Given the description of an element on the screen output the (x, y) to click on. 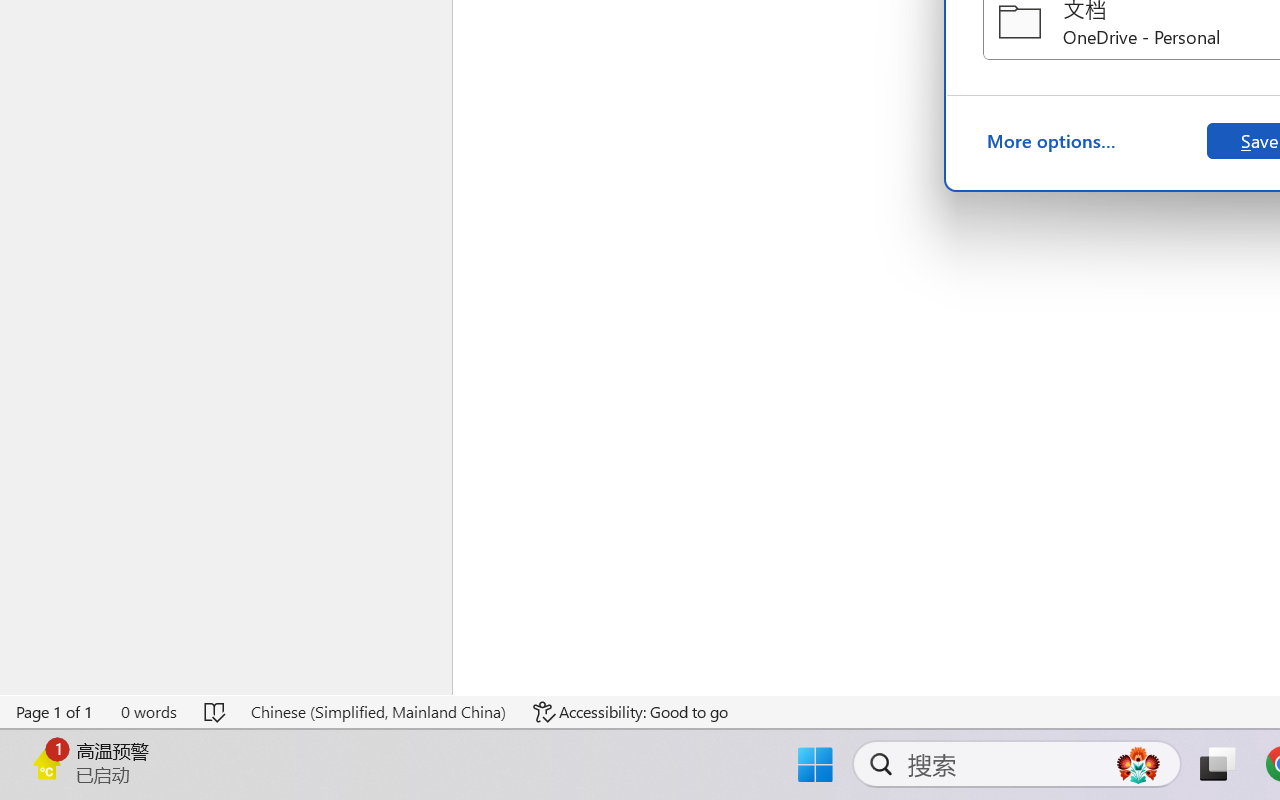
Language Chinese (Simplified, Mainland China) (378, 712)
